Given the description of an element on the screen output the (x, y) to click on. 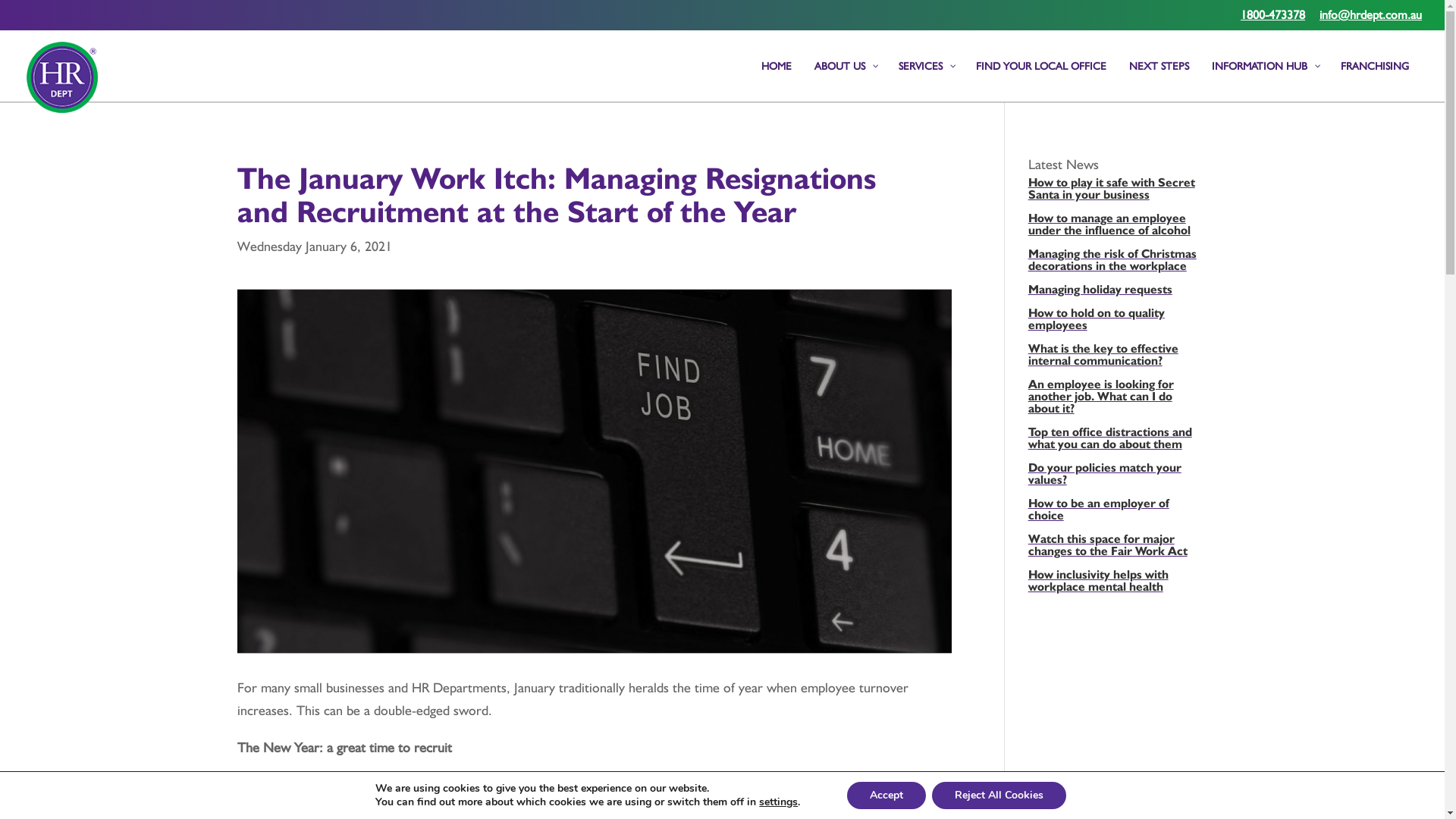
How to manage an employee under the influence of alcohol Element type: text (1114, 228)
1800-473378 Element type: text (1272, 19)
info@hrdept.com.au Element type: text (1370, 19)
Managing holiday requests Element type: text (1114, 293)
How to be an employer of choice Element type: text (1114, 513)
Managing the risk of Christmas decorations in the workplace Element type: text (1114, 263)
What is the key to effective internal communication? Element type: text (1114, 358)
SERVICES Element type: text (925, 80)
NEXT STEPS Element type: text (1158, 80)
HOME Element type: text (776, 80)
Do your policies match your values? Element type: text (1114, 477)
Top ten office distractions and what you can do about them Element type: text (1114, 442)
INFORMATION HUB Element type: text (1264, 80)
FIND YOUR LOCAL OFFICE Element type: text (1040, 80)
Watch this space for major changes to the Fair Work Act Element type: text (1114, 548)
How to hold on to quality employees Element type: text (1114, 322)
How to play it safe with Secret Santa in your business Element type: text (1114, 192)
How inclusivity helps with workplace mental health Element type: text (1114, 584)
Accept Element type: text (886, 795)
ABOUT US Element type: text (845, 80)
FRANCHISING Element type: text (1374, 80)
Reject All Cookies Element type: text (998, 795)
settings Element type: text (778, 802)
